Given the description of an element on the screen output the (x, y) to click on. 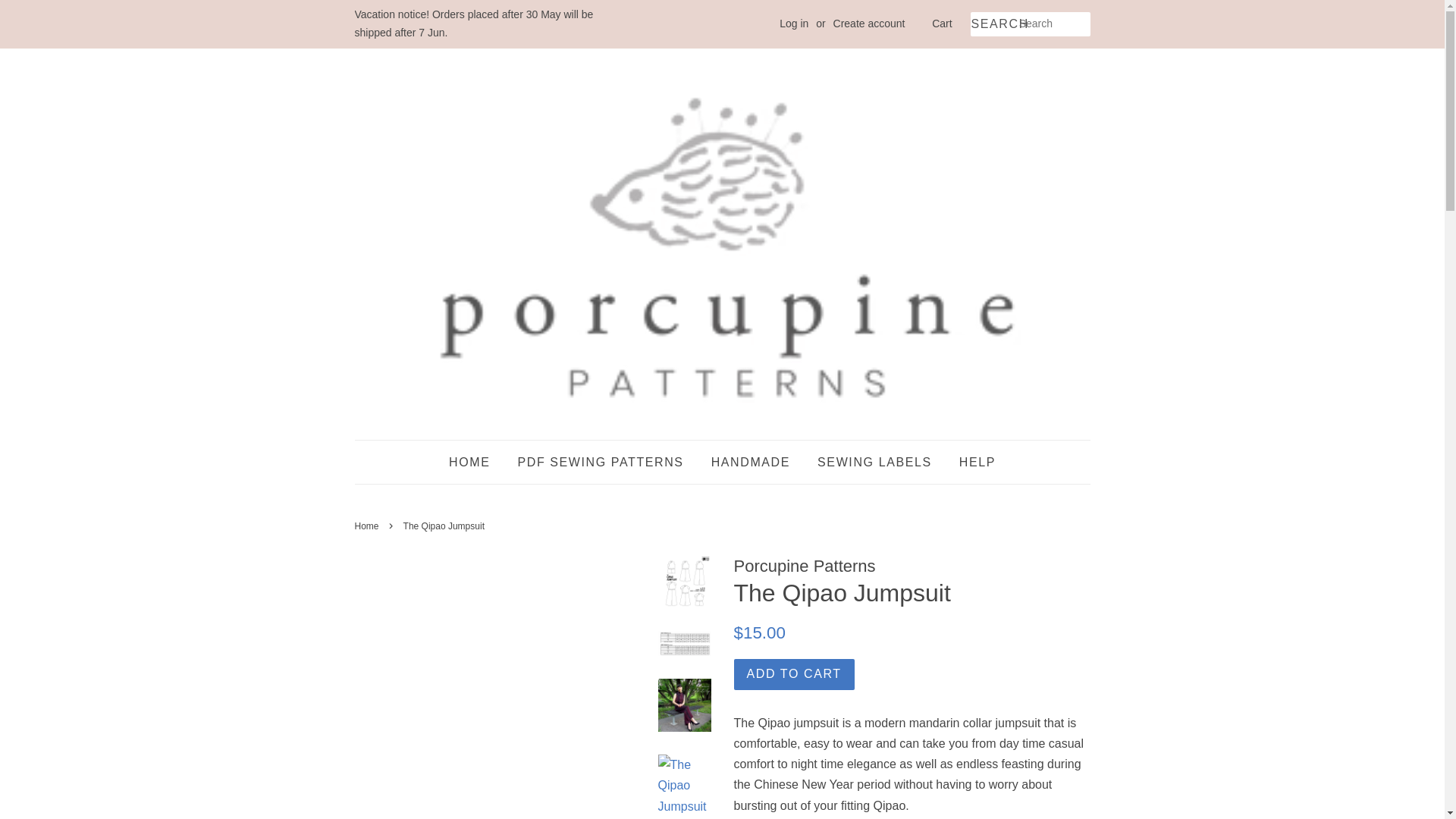
HOME (474, 462)
Log in (793, 23)
HANDMADE (751, 462)
Home (368, 525)
SEWING LABELS (874, 462)
Create account (868, 23)
HELP (971, 462)
SEARCH (994, 24)
PDF SEWING PATTERNS (599, 462)
Cart (941, 24)
Back to the frontpage (368, 525)
